Given the description of an element on the screen output the (x, y) to click on. 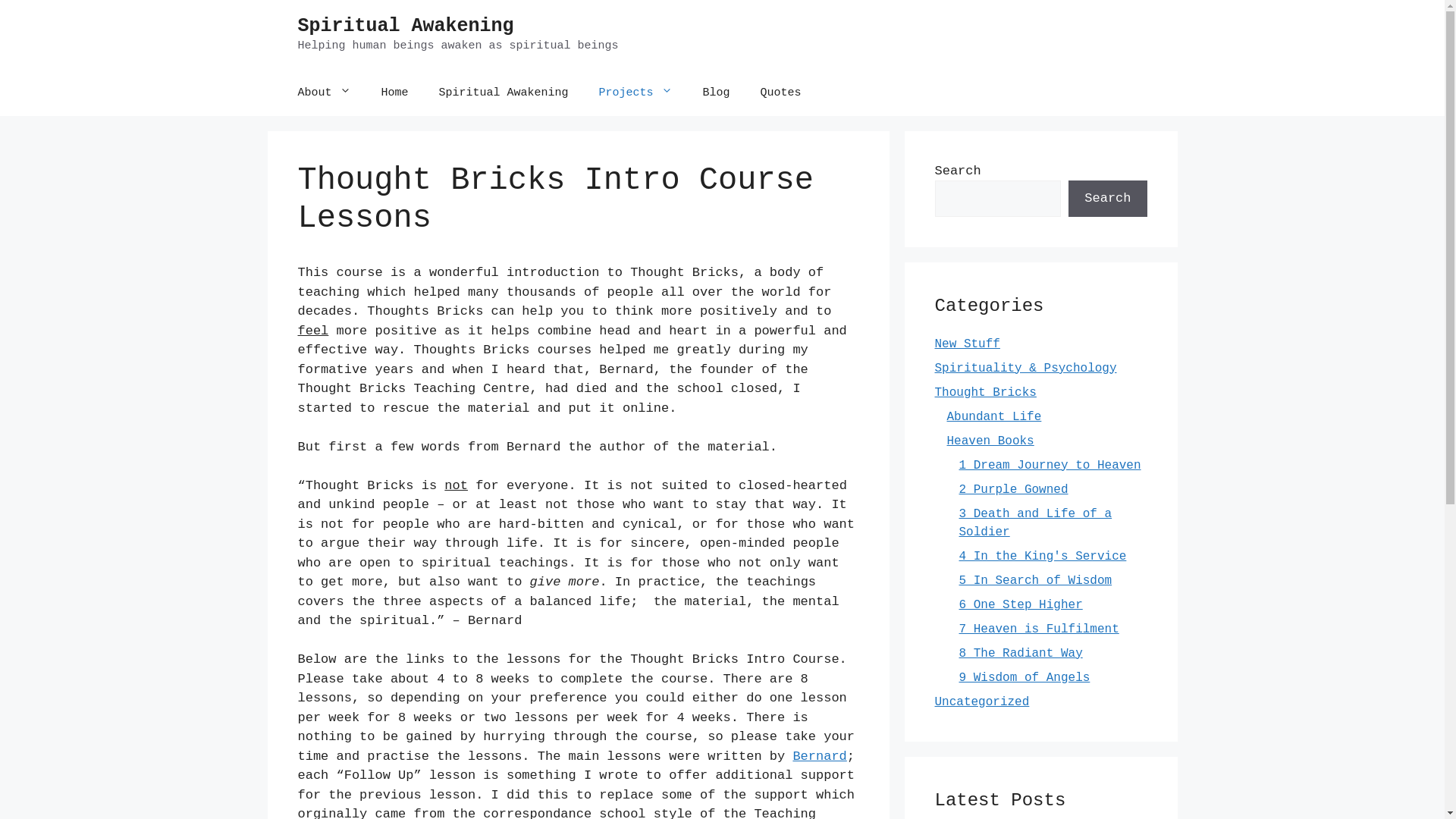
5 In Search of Wisdom Element type: text (1034, 579)
Thought Bricks Element type: text (984, 391)
3 Death and Life of a Soldier Element type: text (1034, 522)
Home Element type: text (394, 92)
Spirituality & Psychology Element type: text (1025, 367)
Heaven Books Element type: text (989, 440)
Spiritual Awakening Element type: text (405, 26)
Spiritual Awakening Element type: text (503, 92)
4 In the King's Service Element type: text (1042, 555)
Uncategorized Element type: text (981, 701)
About Element type: text (323, 92)
7 Heaven is Fulfilment Element type: text (1038, 628)
New Stuff Element type: text (966, 343)
Abundant Life Element type: text (993, 416)
Projects Element type: text (635, 92)
8 The Radiant Way Element type: text (1020, 652)
Bernard Element type: text (819, 756)
1 Dream Journey to Heaven Element type: text (1049, 464)
Search Element type: text (1107, 198)
6 One Step Higher Element type: text (1020, 604)
Blog Element type: text (716, 92)
2 Purple Gowned Element type: text (1012, 488)
Quotes Element type: text (780, 92)
9 Wisdom of Angels Element type: text (1023, 677)
